Given the description of an element on the screen output the (x, y) to click on. 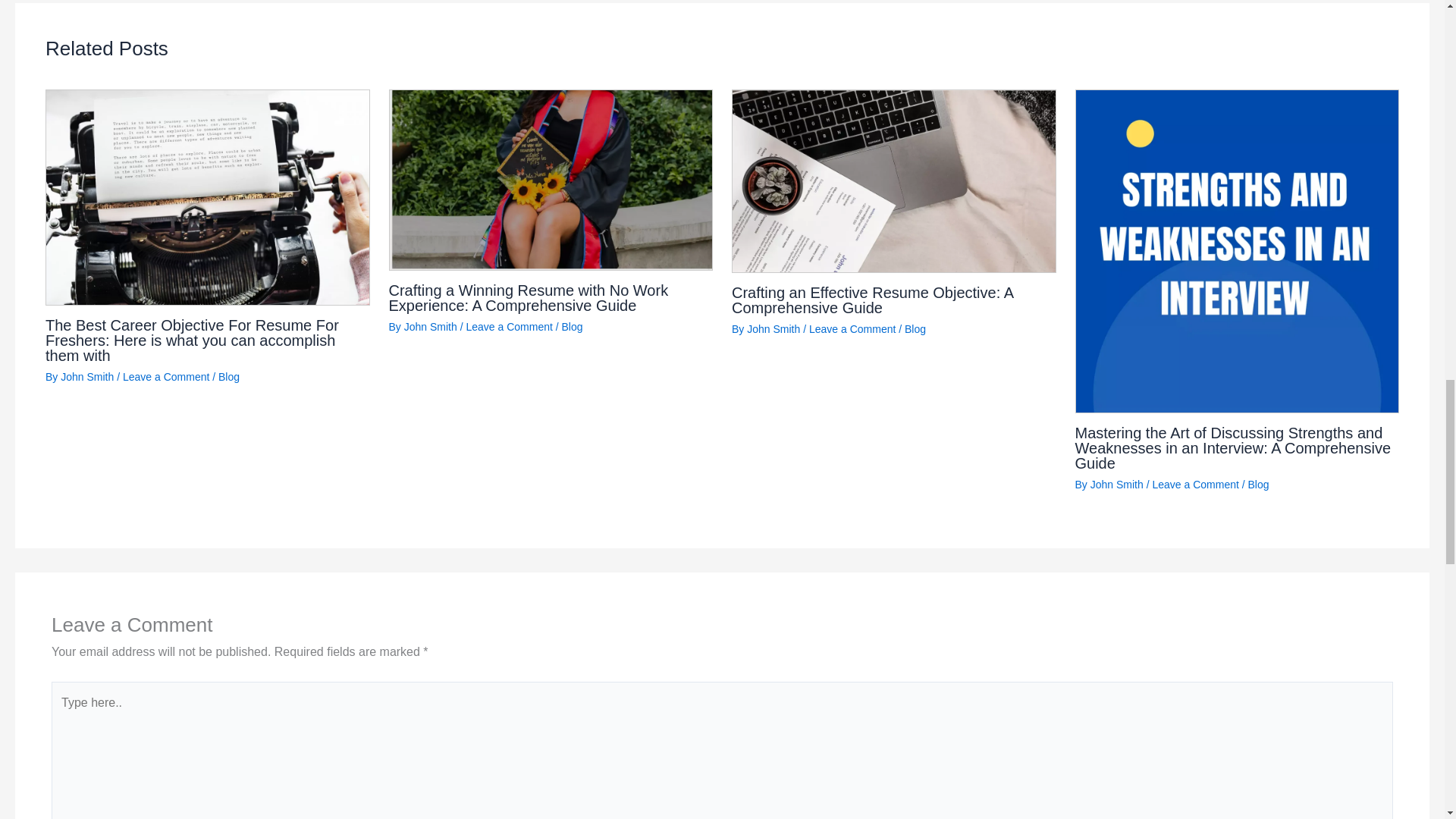
View all posts by John Smith (1116, 484)
View all posts by John Smith (87, 377)
View all posts by John Smith (772, 328)
View all posts by John Smith (430, 326)
